Given the description of an element on the screen output the (x, y) to click on. 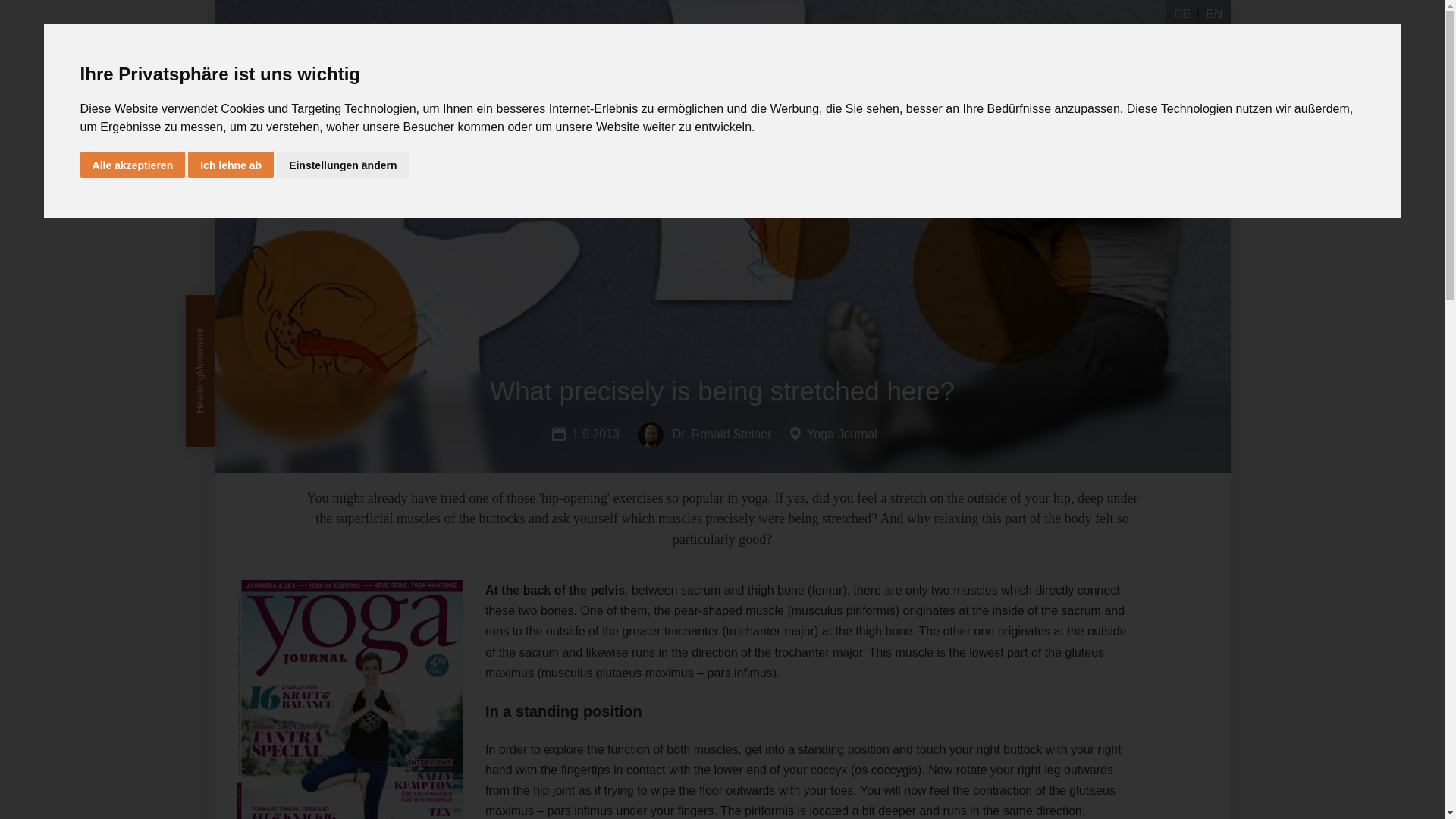
Online Yogastudio (887, 49)
AshtangaYoga (383, 49)
Alle akzeptieren (133, 164)
Philosophy (595, 49)
HealiungMovement (494, 49)
Login (1136, 49)
What precisely is being stretched here? (721, 391)
Community (676, 49)
AYInstitute Ulm (999, 49)
Dr. Ronald Steiner (704, 433)
Shop (1074, 49)
Ich lehne ab (230, 164)
TeachersTraining (772, 49)
EN (1214, 13)
DE (1182, 13)
